Given the description of an element on the screen output the (x, y) to click on. 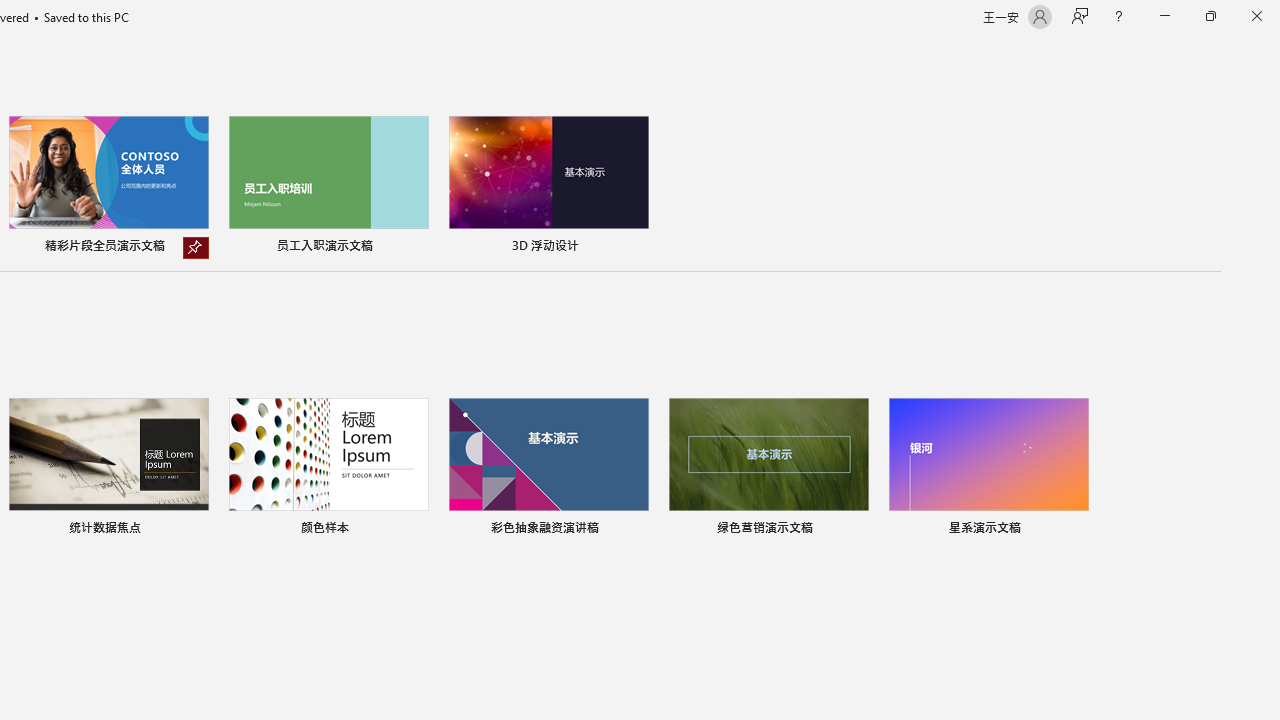
Unpin from list (195, 247)
Pin to list (1075, 529)
